Given the description of an element on the screen output the (x, y) to click on. 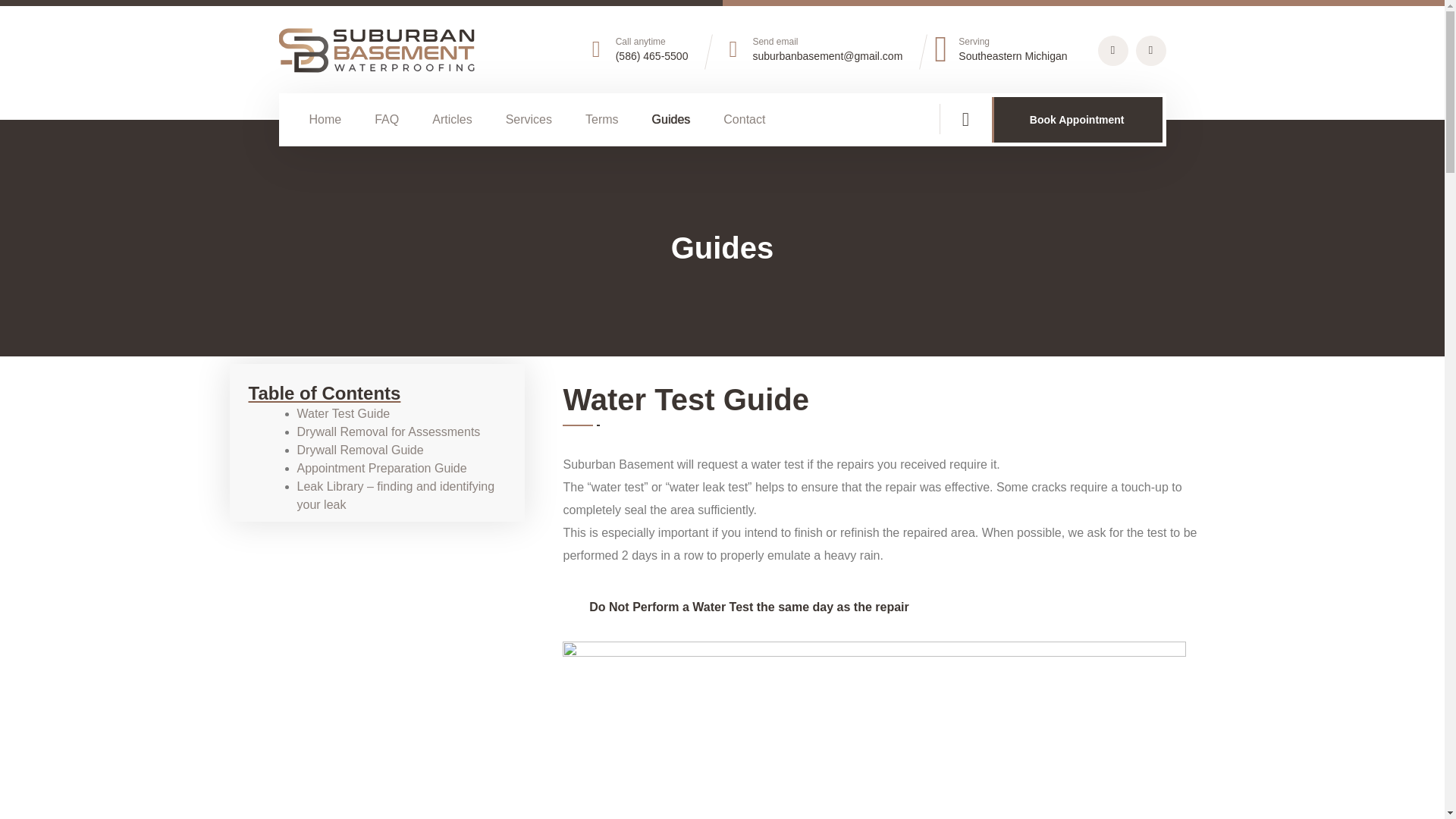
Articles (451, 119)
Home (325, 119)
Book Appointment (1076, 119)
Services (528, 119)
Guides (671, 119)
Terms (601, 119)
Contact (744, 119)
FAQ (386, 119)
